Given the description of an element on the screen output the (x, y) to click on. 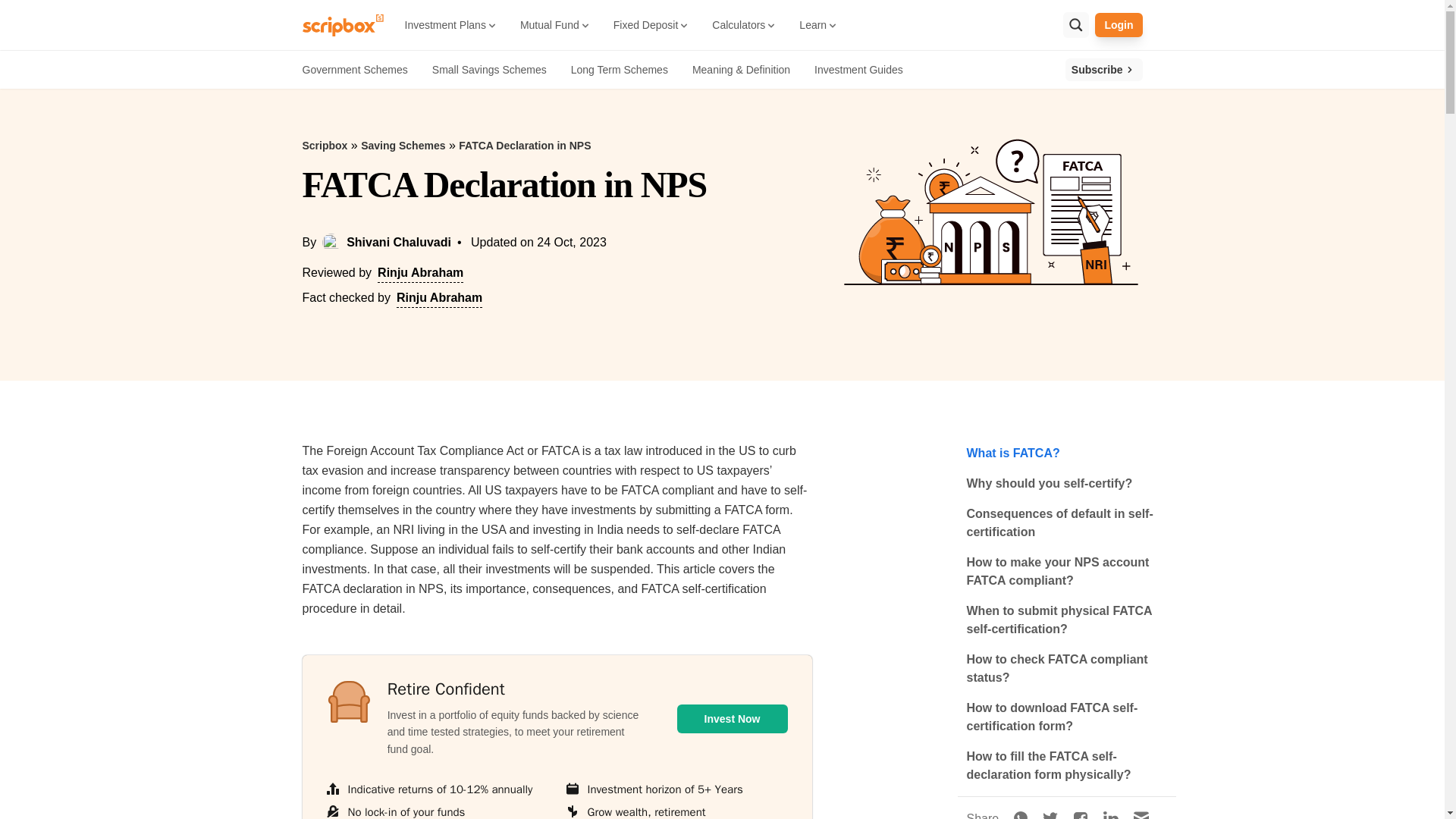
Login (1117, 24)
